Given the description of an element on the screen output the (x, y) to click on. 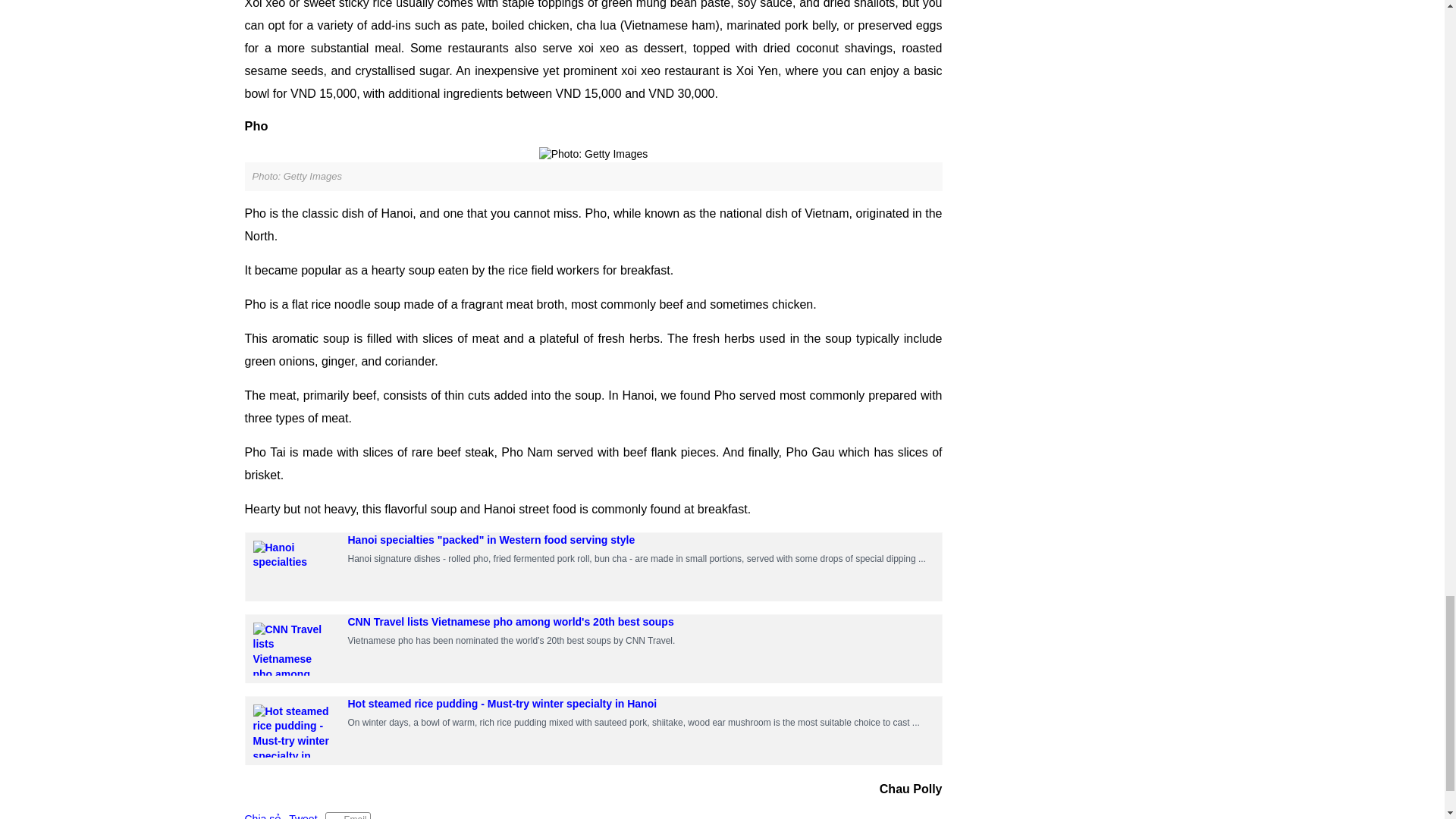
Photo: Getty Images (592, 154)
Hanoi specialties "packed" in Western food serving style (490, 539)
